Given the description of an element on the screen output the (x, y) to click on. 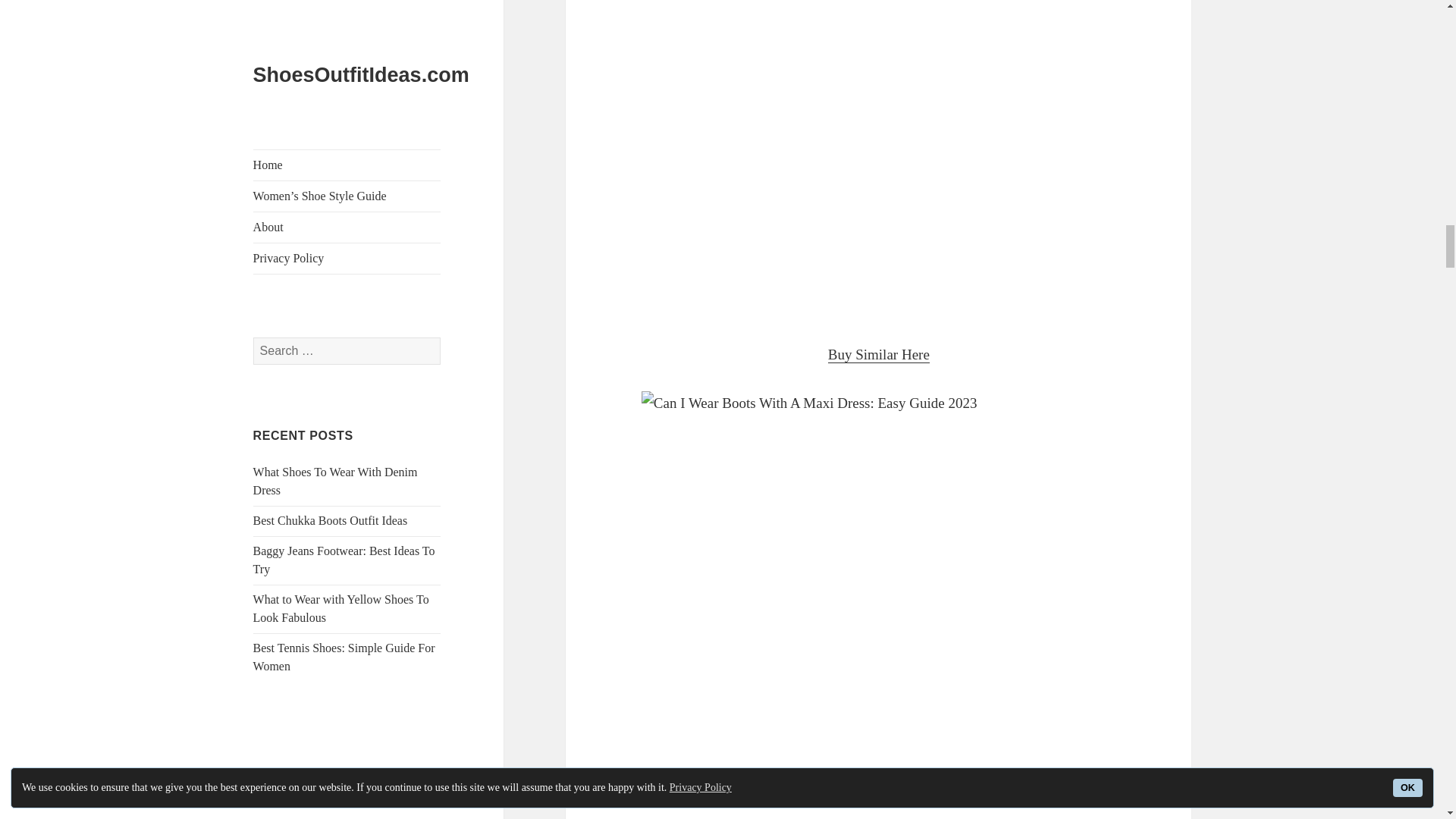
Buy Similar Here (879, 354)
